Given the description of an element on the screen output the (x, y) to click on. 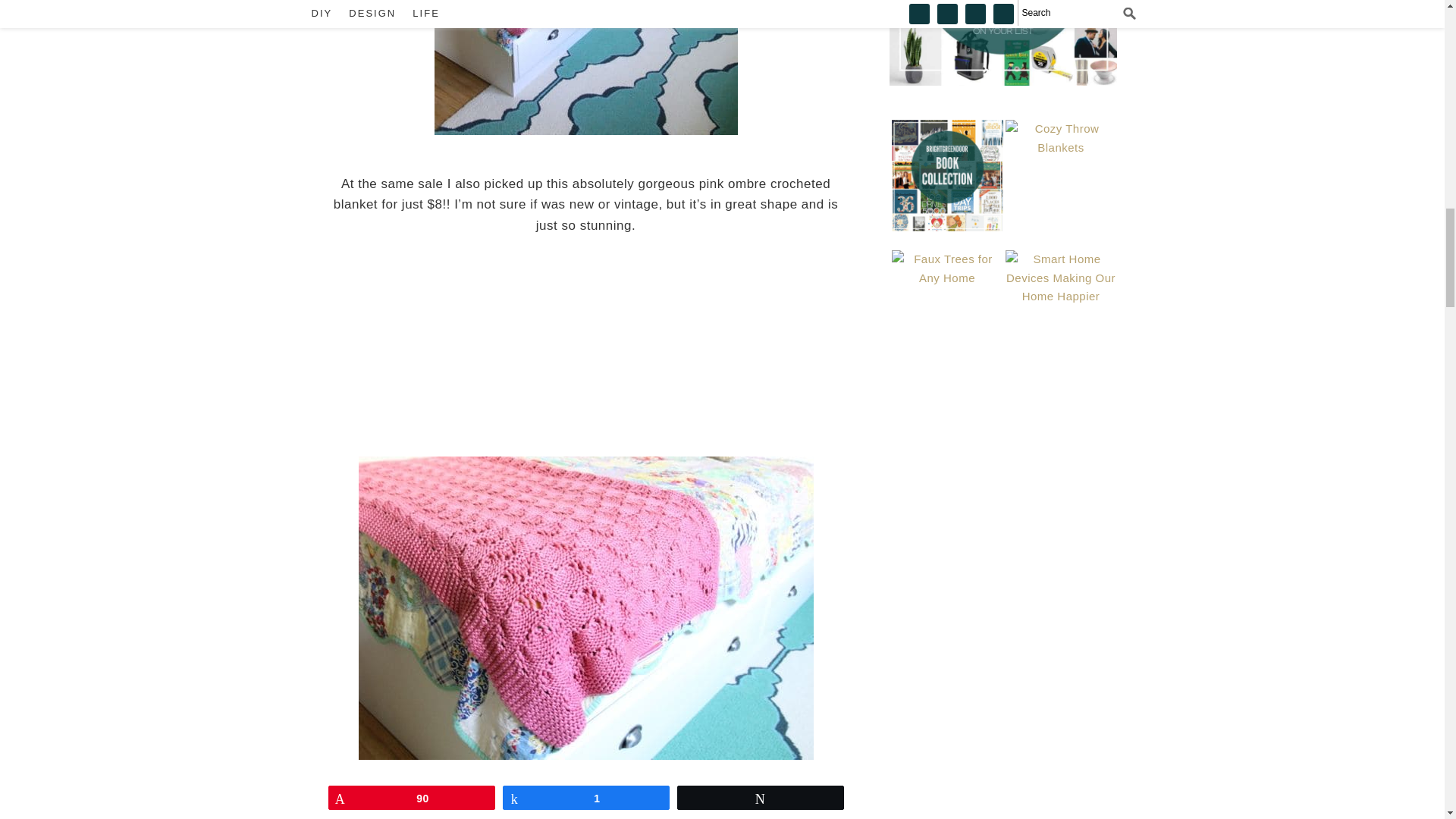
Smart Home Devices Making our Home Happier! (1061, 305)
My Favorite Faux Trees for Every Home (947, 305)
My Favorite Cozy Throw Blankets (1061, 174)
My Book Collection- Books I Keep and How I Store Them (947, 174)
Bright Green Door Gift Guide (1002, 42)
